Given the description of an element on the screen output the (x, y) to click on. 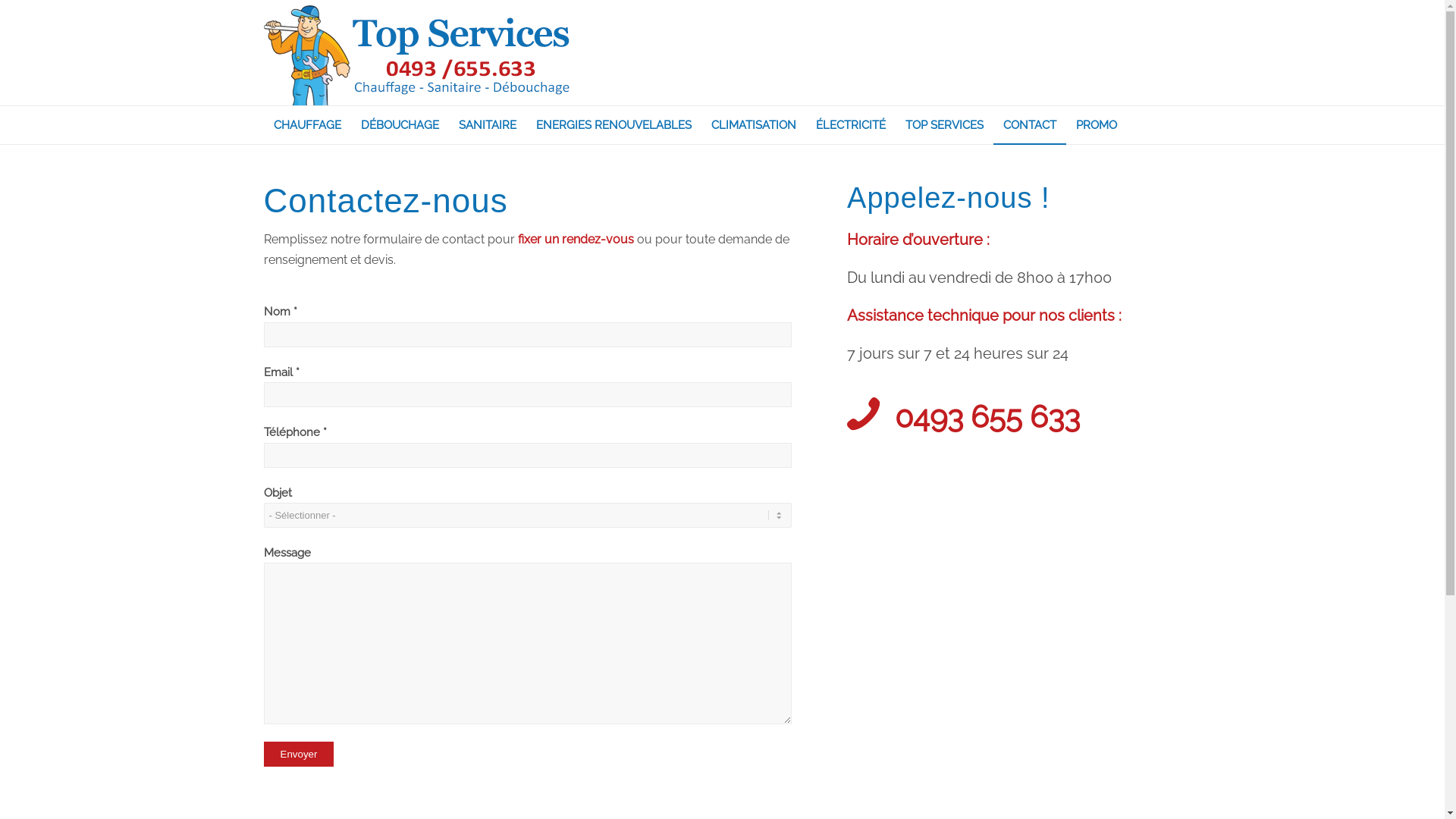
Envoyer Element type: text (298, 753)
CLIMATISATION Element type: text (752, 125)
CONTACT Element type: text (1029, 125)
SANITAIRE Element type: text (487, 125)
0493 655 633 Element type: text (986, 416)
TOP SERVICES Element type: text (943, 125)
CHAUFFAGE Element type: text (307, 125)
PROMO Element type: text (1096, 125)
logo-topservices-1 Element type: hover (417, 52)
ENERGIES RENOUVELABLES Element type: text (613, 125)
